Given the description of an element on the screen output the (x, y) to click on. 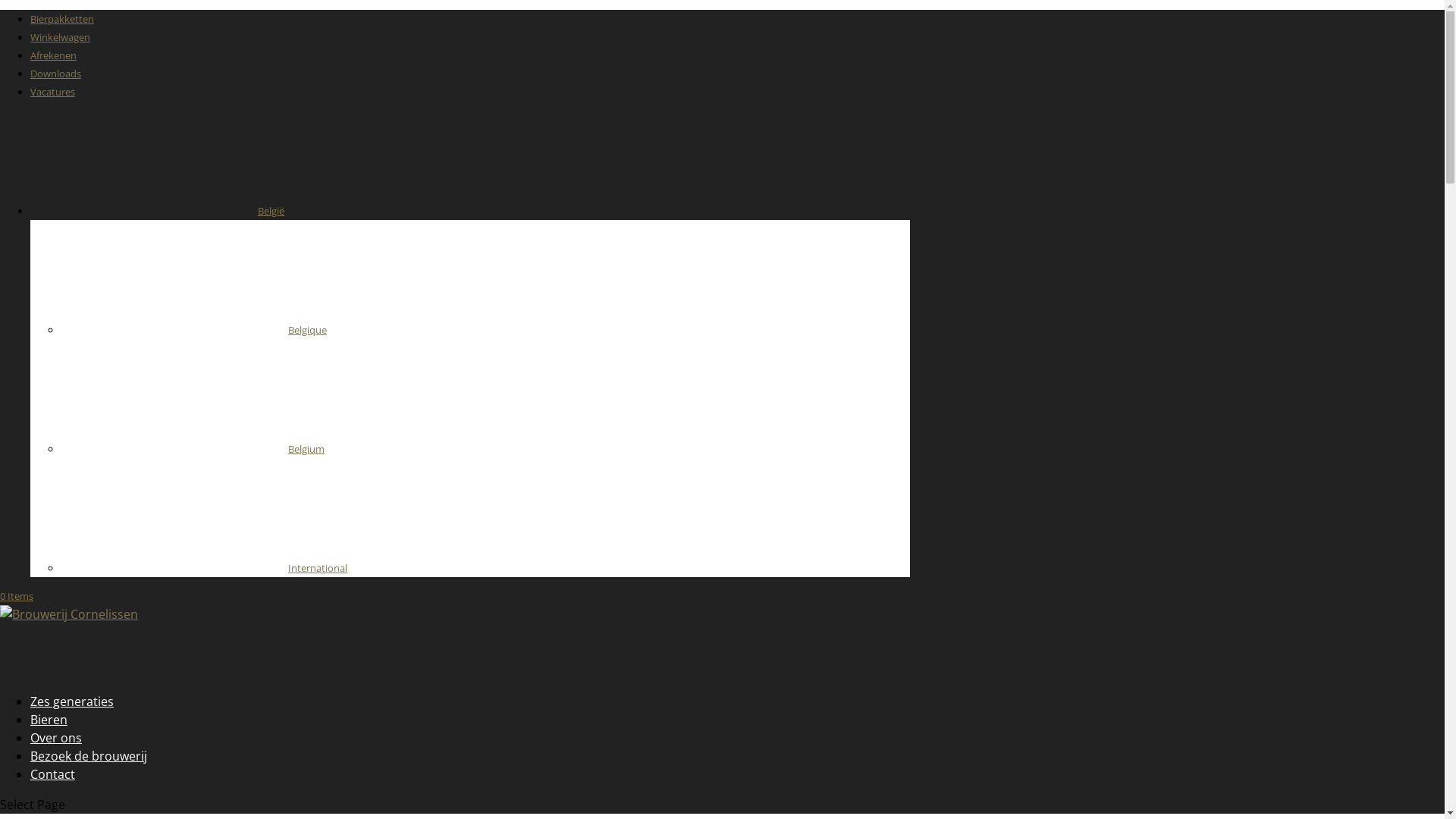
Afrekenen Element type: text (53, 55)
Belgique Element type: text (193, 329)
Downloads Element type: text (55, 73)
Bierpakketten Element type: text (62, 18)
0 Items Element type: text (16, 595)
Over ons Element type: text (55, 766)
Winkelwagen Element type: text (60, 36)
International Element type: text (203, 567)
Vacatures Element type: text (52, 91)
Belgium Element type: text (192, 448)
Bieren Element type: text (48, 747)
Zes generaties Element type: text (71, 729)
